Given the description of an element on the screen output the (x, y) to click on. 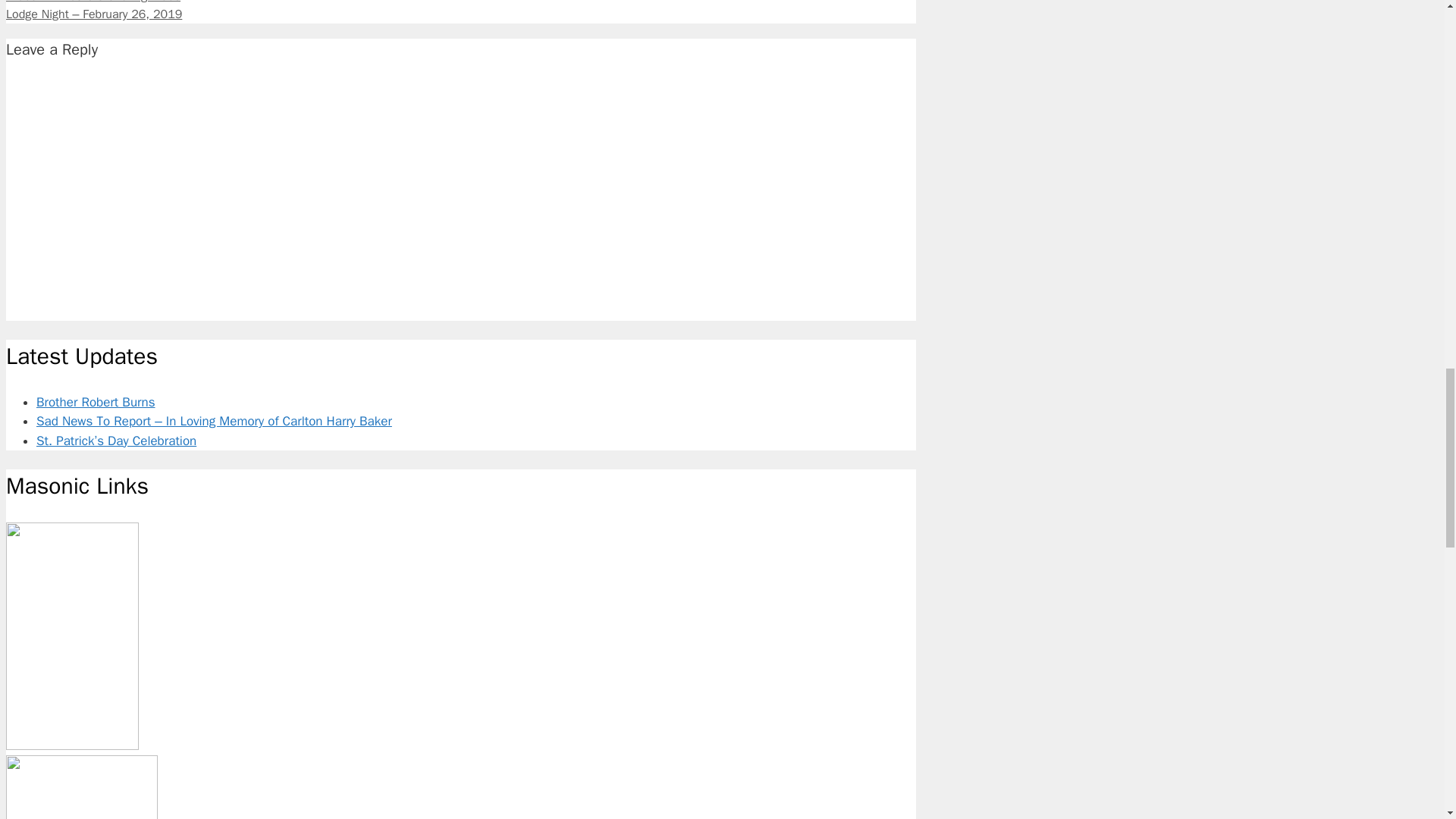
Brother Robert Burns (95, 401)
Brober..? Brothers Sharing Rides (92, 2)
